Given the description of an element on the screen output the (x, y) to click on. 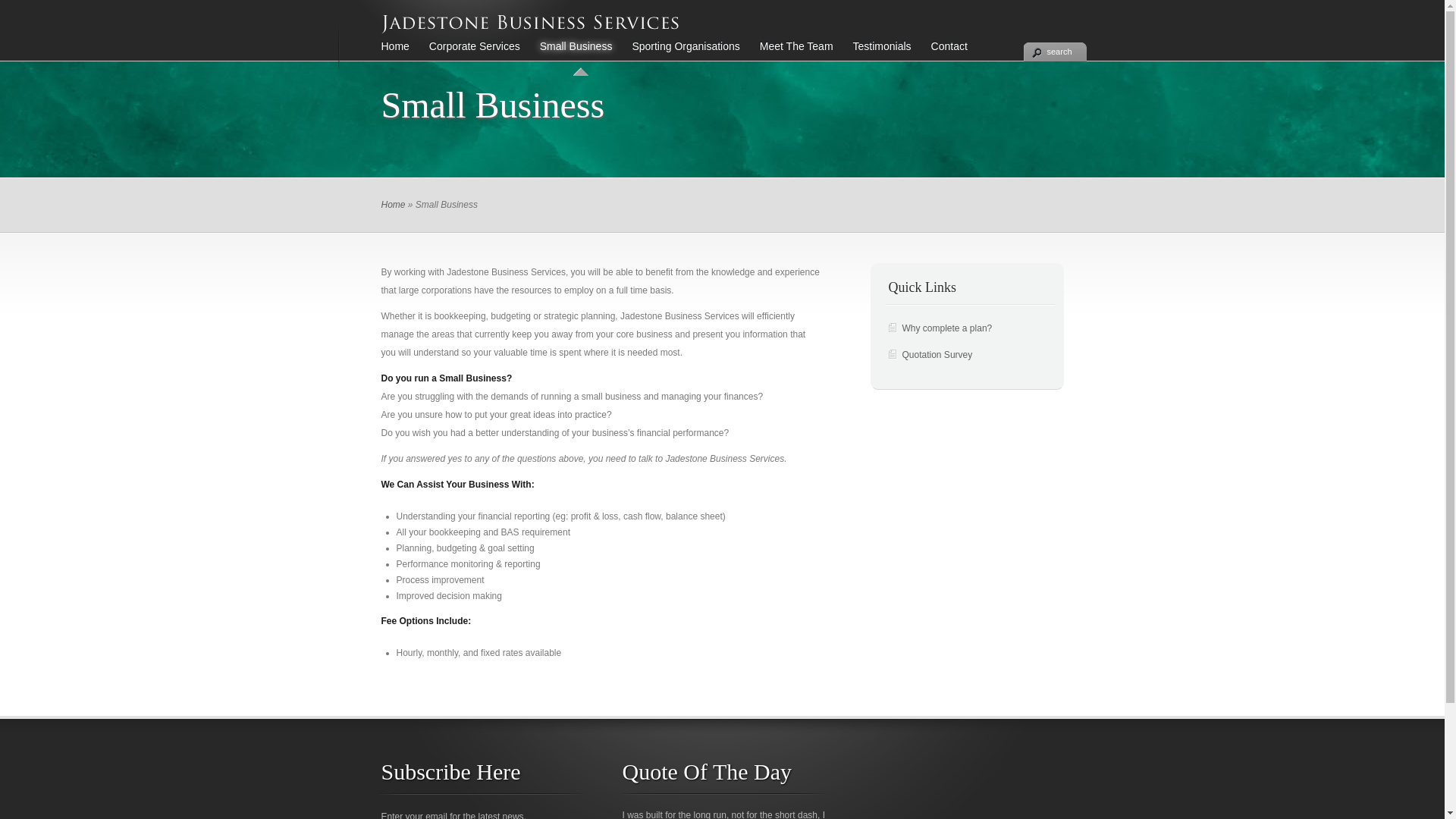
Home Element type: text (389, 54)
Testimonials Element type: text (876, 54)
Sporting Organisations Element type: text (680, 54)
Meet The Team Element type: text (791, 54)
Small Business Element type: text (570, 54)
Contact Element type: text (943, 54)
search Element type: text (1054, 51)
Corporate Services Element type: text (469, 54)
Home Element type: text (392, 204)
Why complete a plan? Element type: text (947, 328)
Quotation Survey Element type: text (937, 354)
